Given the description of an element on the screen output the (x, y) to click on. 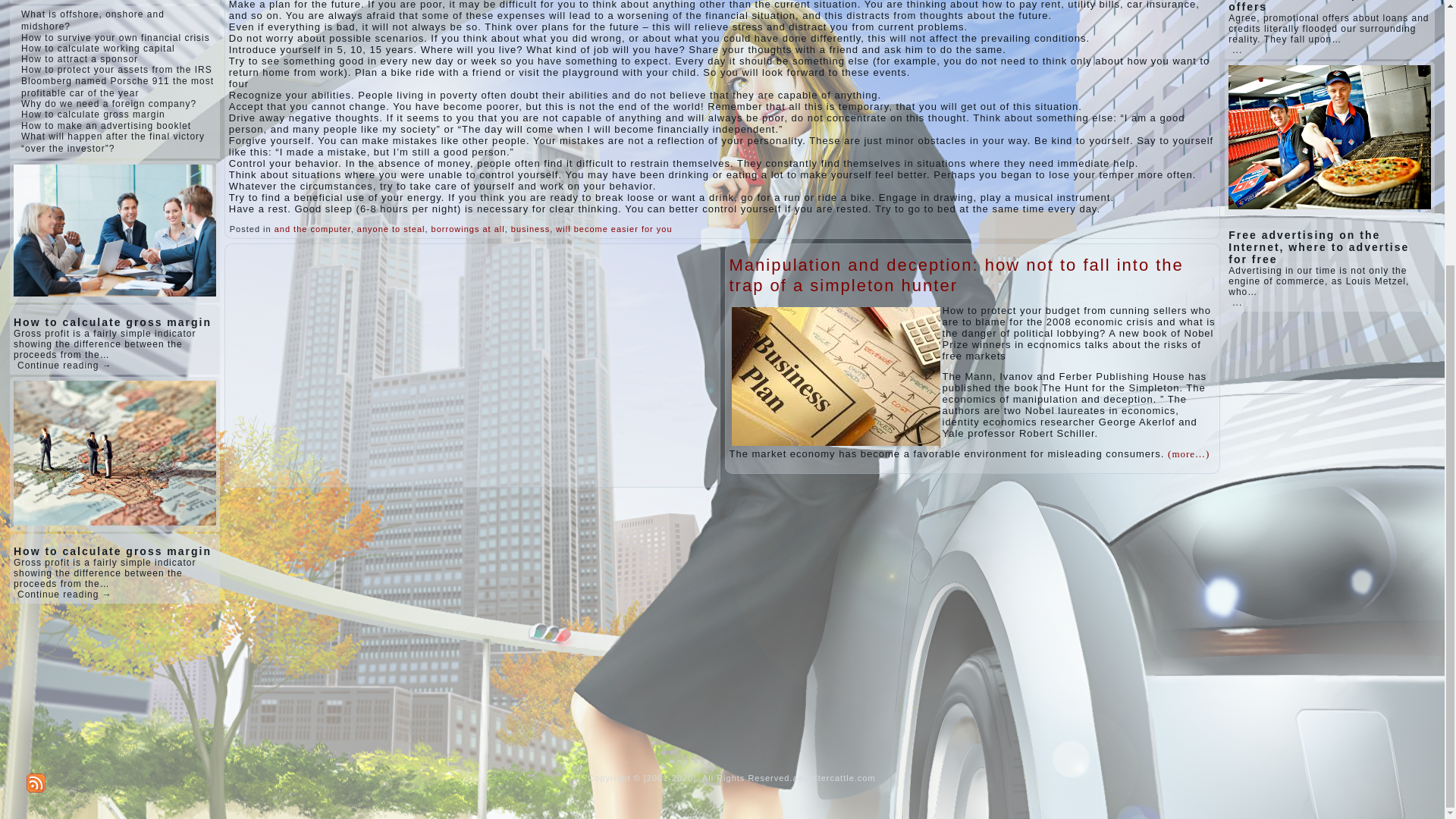
How to calculate working capital (97, 48)
borrowings at all (467, 228)
What is offshore, onshore and midshore? (92, 20)
business (530, 228)
How to attract a sponsor (79, 59)
anyone to steal (390, 228)
How to survive your own financial crisis (115, 37)
How to attract a sponsor (79, 59)
How to survive your own financial crisis (115, 37)
How to calculate gross margin (93, 113)
How to make an advertising booklet (105, 125)
and the computer (312, 228)
Why do we need a foreign company? (108, 103)
